Given the description of an element on the screen output the (x, y) to click on. 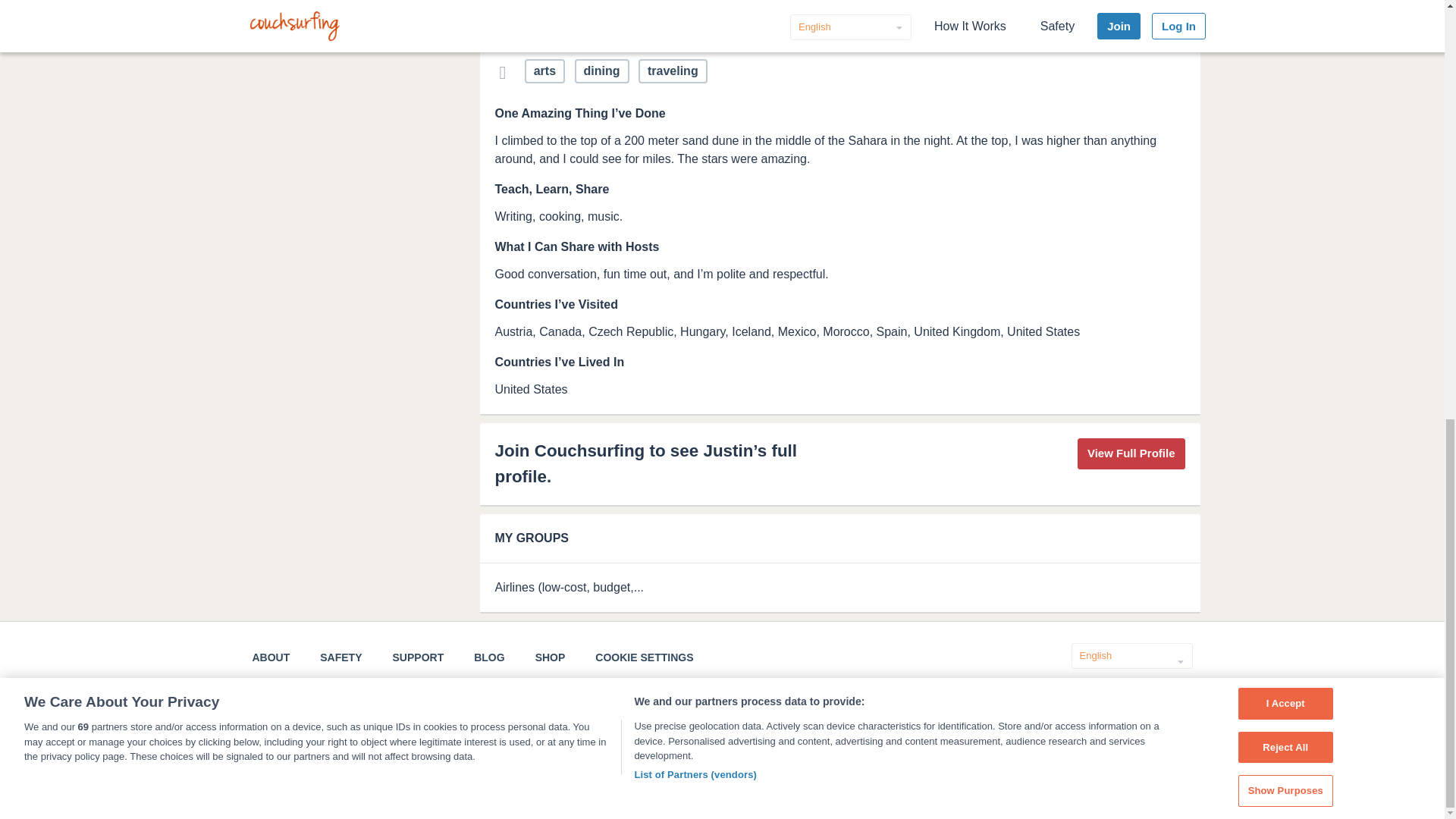
COOKIE SETTINGS (644, 657)
SHOP (550, 657)
ABOUT (270, 657)
Sitemap (616, 787)
Privacy (553, 787)
SUPPORT (418, 657)
BLOG (488, 657)
Terms (493, 787)
View Full Profile (1131, 453)
SAFETY (340, 657)
